Given the description of an element on the screen output the (x, y) to click on. 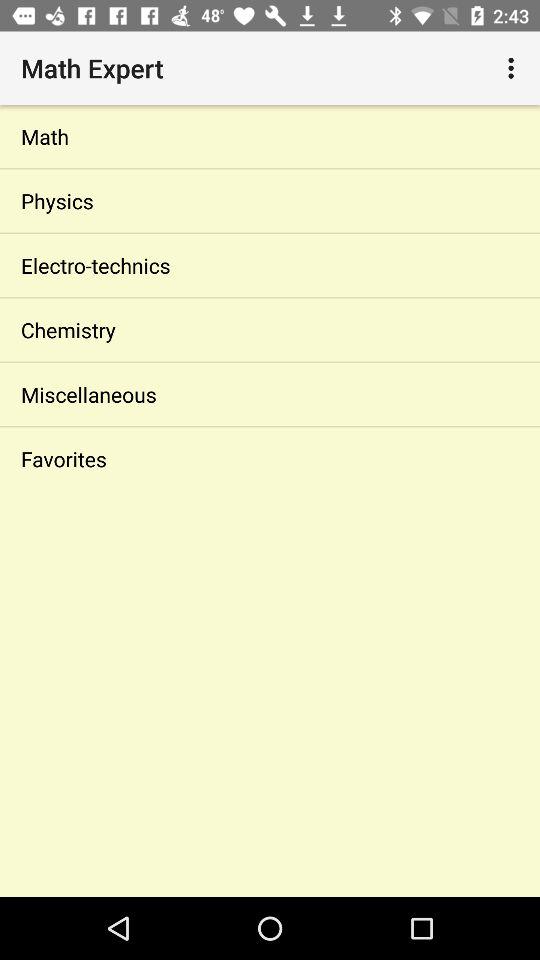
turn off the app to the right of the math expert (513, 67)
